Given the description of an element on the screen output the (x, y) to click on. 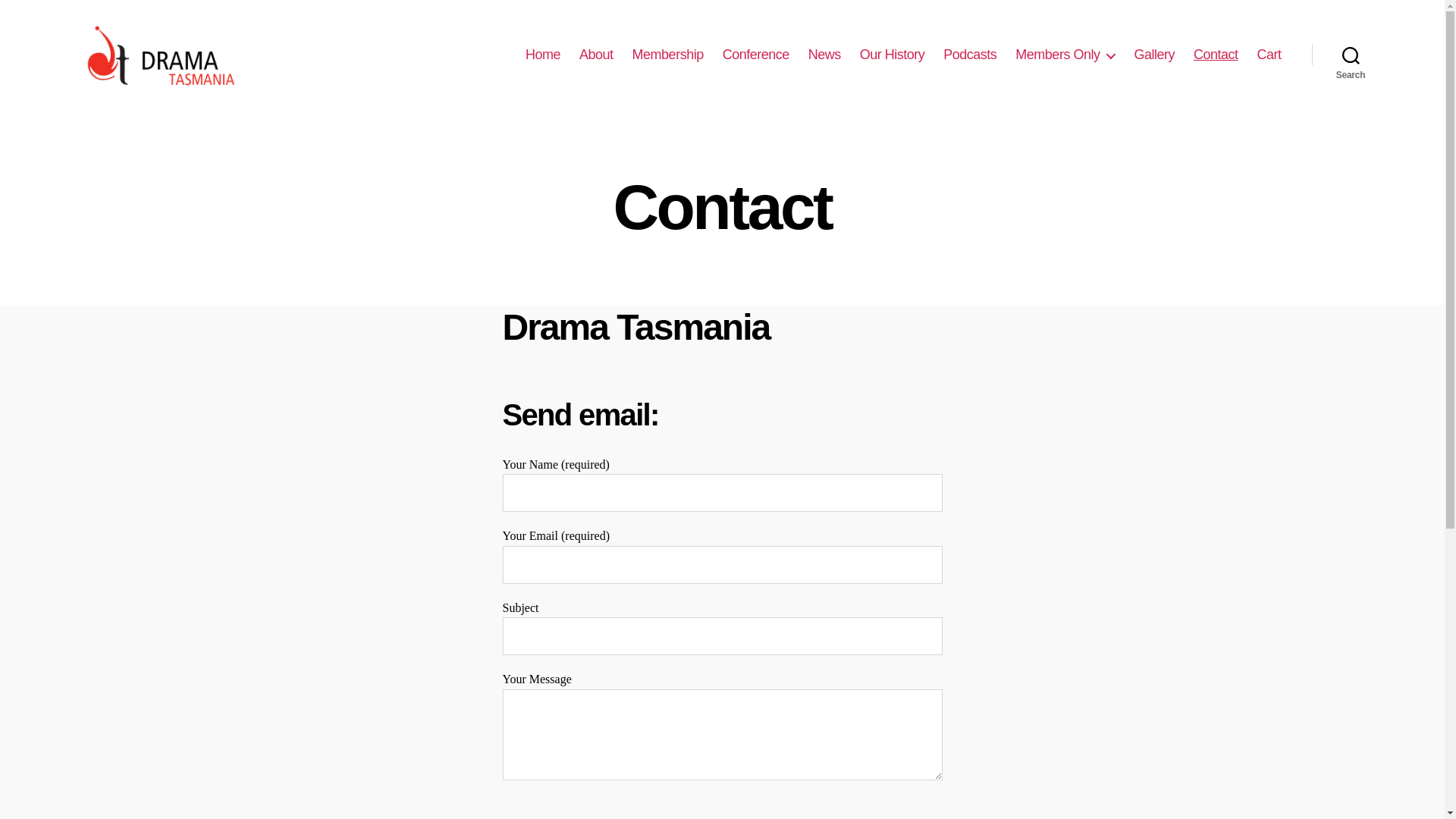
Home Element type: text (542, 55)
About Element type: text (596, 55)
News Element type: text (824, 55)
Gallery Element type: text (1153, 55)
Conference Element type: text (755, 55)
Members Only Element type: text (1064, 55)
Cart Element type: text (1268, 55)
Contact Element type: text (1215, 55)
Search Element type: text (1350, 55)
Our History Element type: text (892, 55)
Membership Element type: text (667, 55)
Podcasts Element type: text (969, 55)
